Given the description of an element on the screen output the (x, y) to click on. 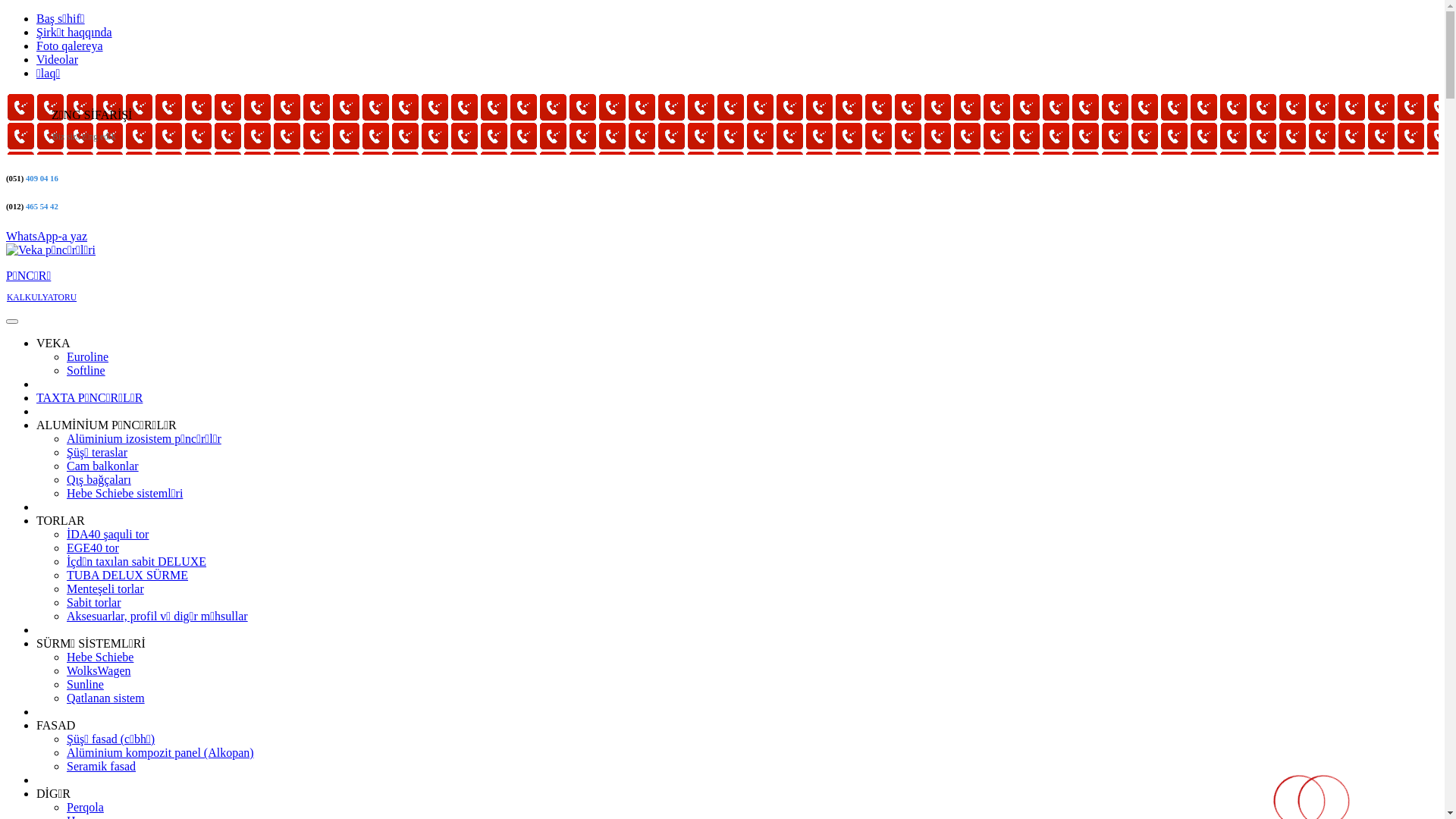
Foto qalereya Element type: text (69, 45)
TORLAR Element type: text (60, 520)
VEKA Element type: text (52, 342)
Seramik fasad Element type: text (100, 765)
Sunline Element type: text (84, 683)
Hebe Schiebe Element type: text (99, 656)
Qatlanan sistem Element type: text (105, 697)
WolksWagen Element type: text (98, 670)
Perqola Element type: text (84, 806)
Sabit torlar Element type: text (93, 602)
Cam balkonlar Element type: text (102, 465)
EGE40 tor Element type: text (92, 547)
WhatsApp-a yaz Element type: text (46, 235)
Euroline Element type: text (87, 356)
FASAD Element type: text (55, 724)
Softline Element type: text (85, 370)
Videolar Element type: text (57, 59)
